Given the description of an element on the screen output the (x, y) to click on. 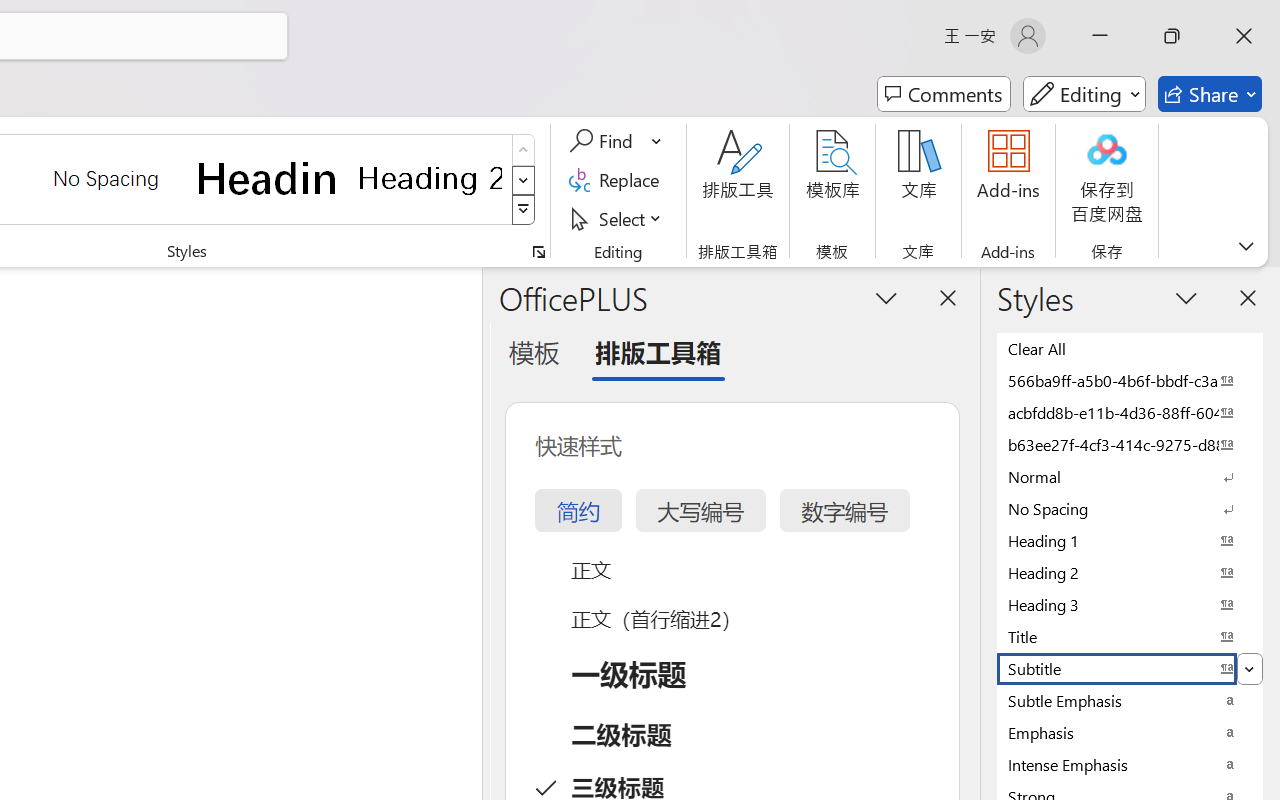
Subtitle (1130, 668)
